Given the description of an element on the screen output the (x, y) to click on. 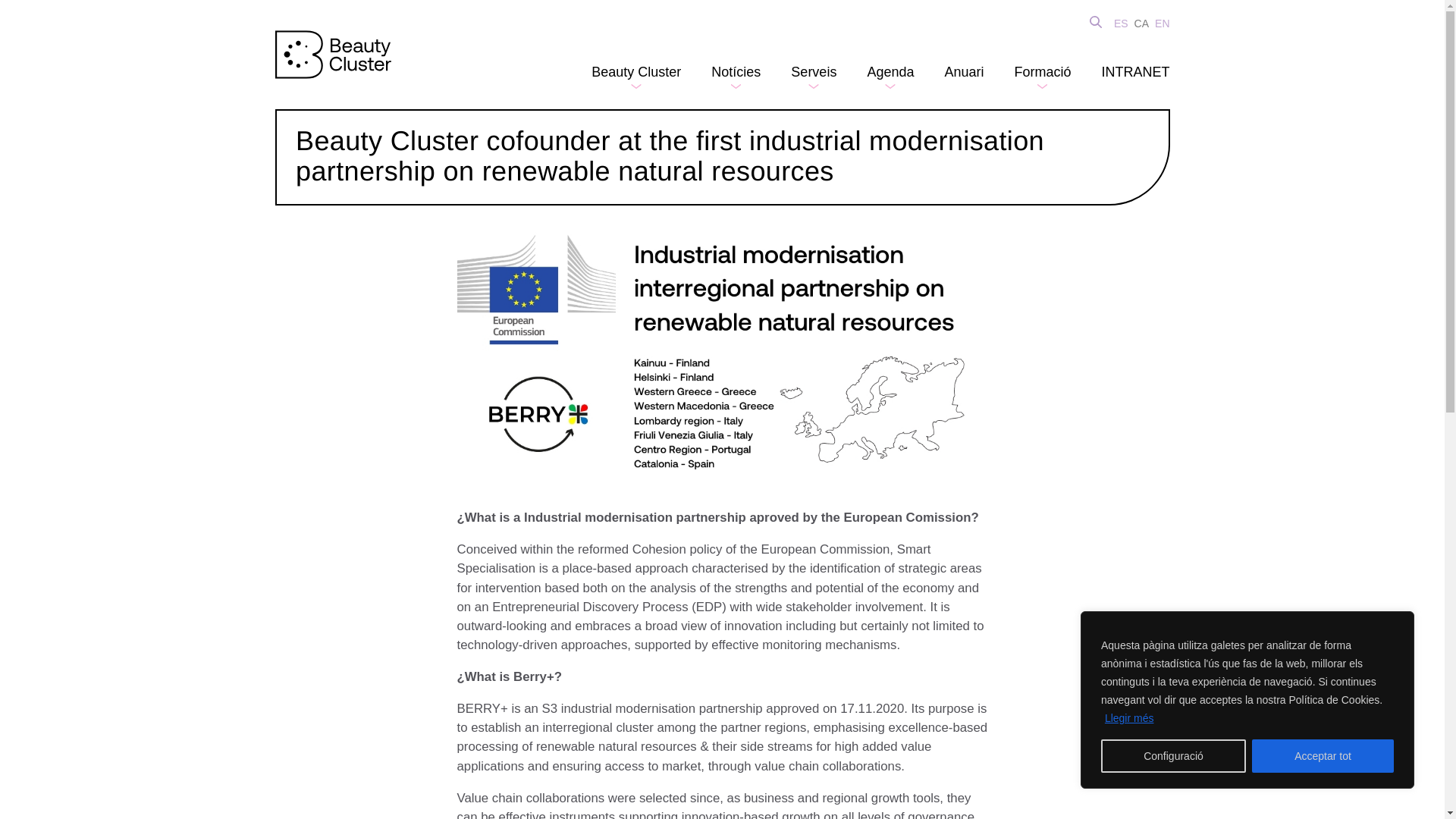
English (1161, 23)
Acceptar tot (1322, 756)
Beauty Cluster (636, 71)
Agenda (890, 71)
Serveis (812, 71)
